Given the description of an element on the screen output the (x, y) to click on. 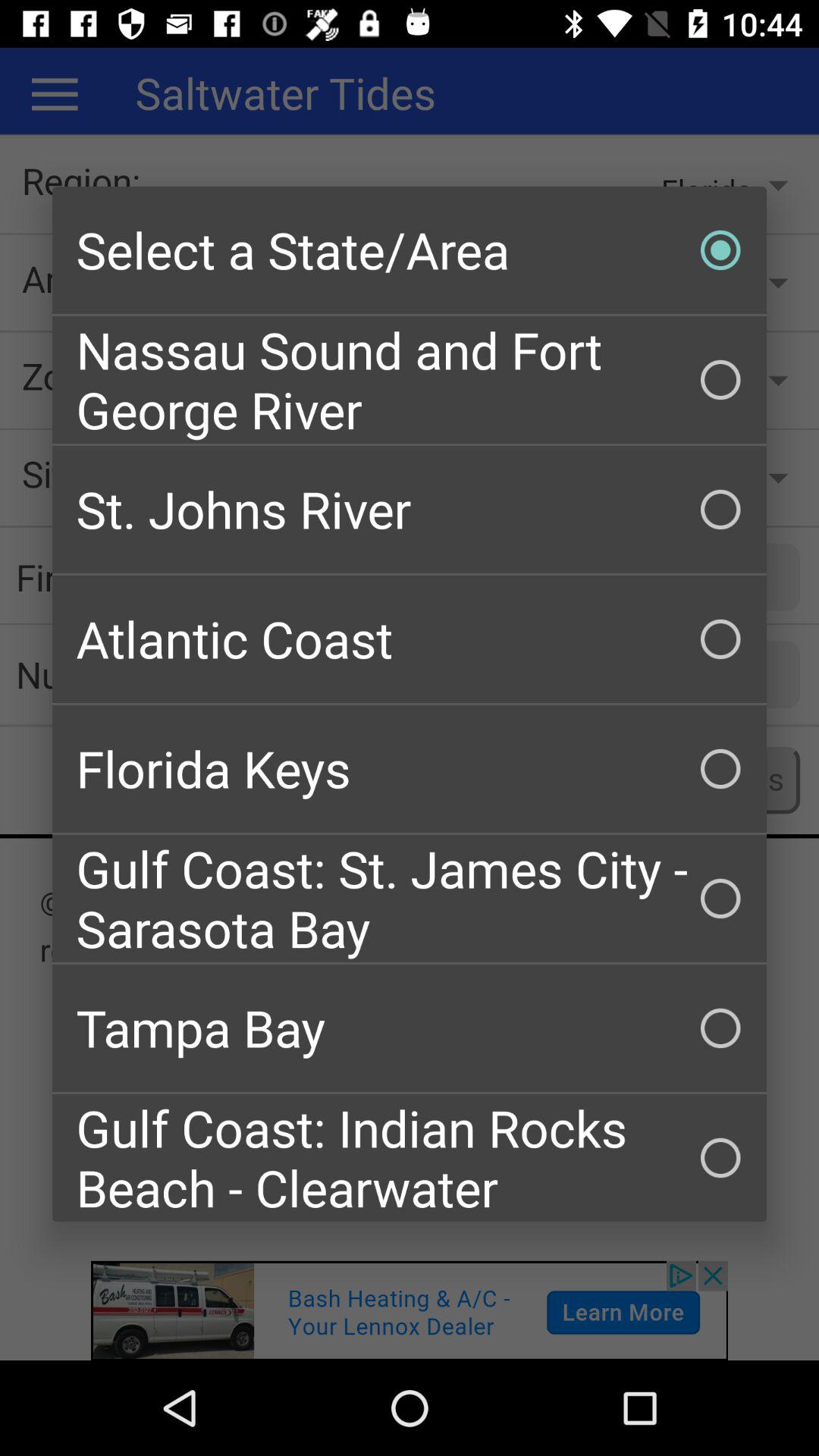
open checkbox below the select a state checkbox (409, 379)
